Given the description of an element on the screen output the (x, y) to click on. 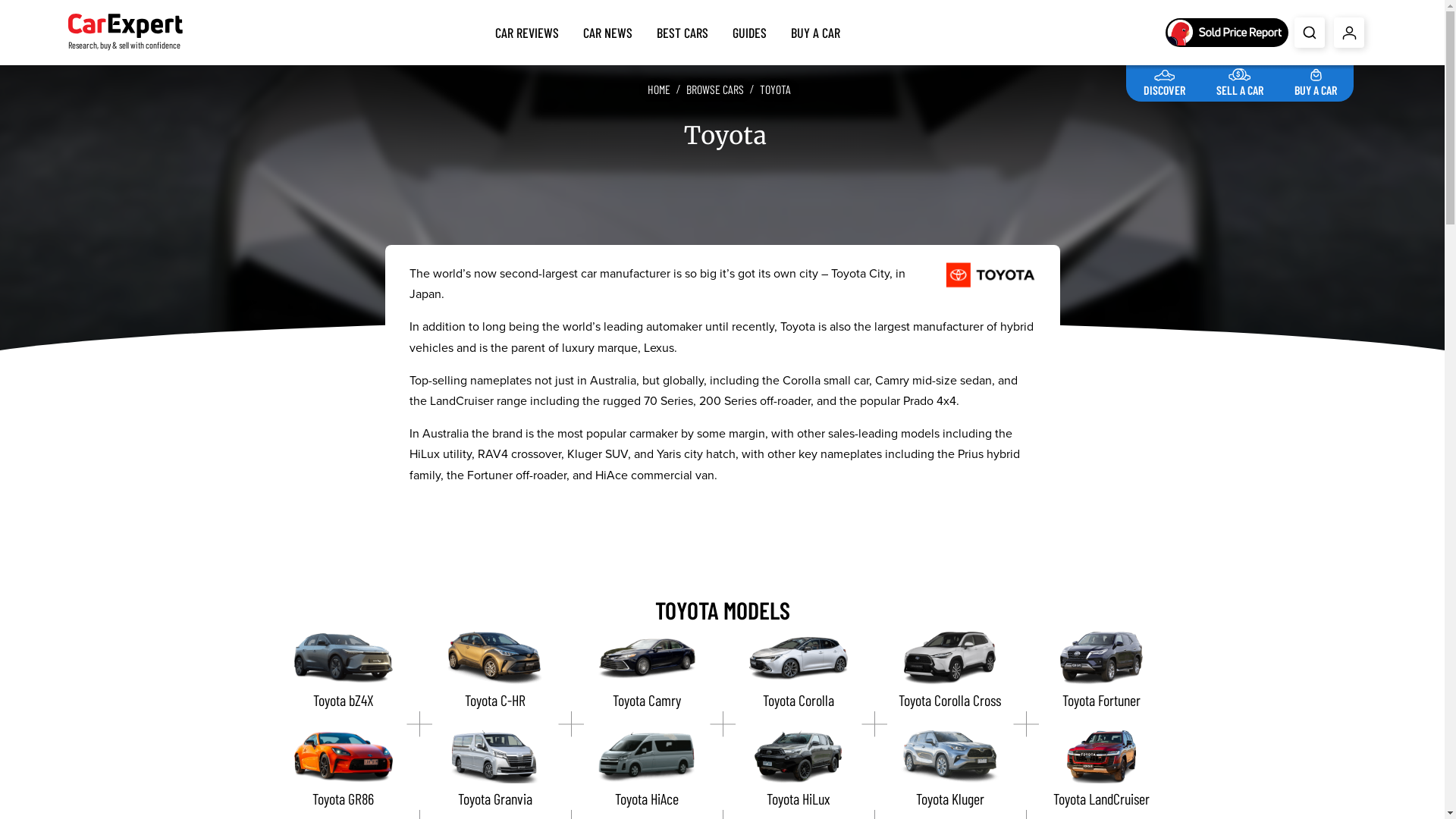
Toyota Camry Element type: text (645, 670)
CAR NEWS Element type: text (607, 29)
Toyota LandCruiser Element type: text (1100, 769)
DISCOVER Element type: text (1164, 80)
Toyota bZ4X Element type: text (342, 670)
Toyota Corolla Cross Element type: text (949, 670)
Toyota HiLux Element type: text (797, 769)
Toyota Kluger Element type: text (949, 769)
Toyota Granvia Element type: text (494, 769)
GUIDES Element type: text (749, 29)
Toyota GR86 Element type: text (342, 769)
Submit Element type: hover (1309, 32)
BEST CARS Element type: text (682, 29)
BUY A CAR Element type: text (815, 29)
Toyota C-HR Element type: text (494, 670)
CAR REVIEWS Element type: text (526, 29)
HOME Element type: text (658, 89)
Toyota Corolla Element type: text (797, 670)
BROWSE CARS Element type: text (714, 89)
Toyota HiAce Element type: text (645, 769)
SELL A CAR Element type: text (1239, 80)
BUY A CAR Element type: text (1315, 80)
Toyota Fortuner Element type: text (1100, 670)
